Given the description of an element on the screen output the (x, y) to click on. 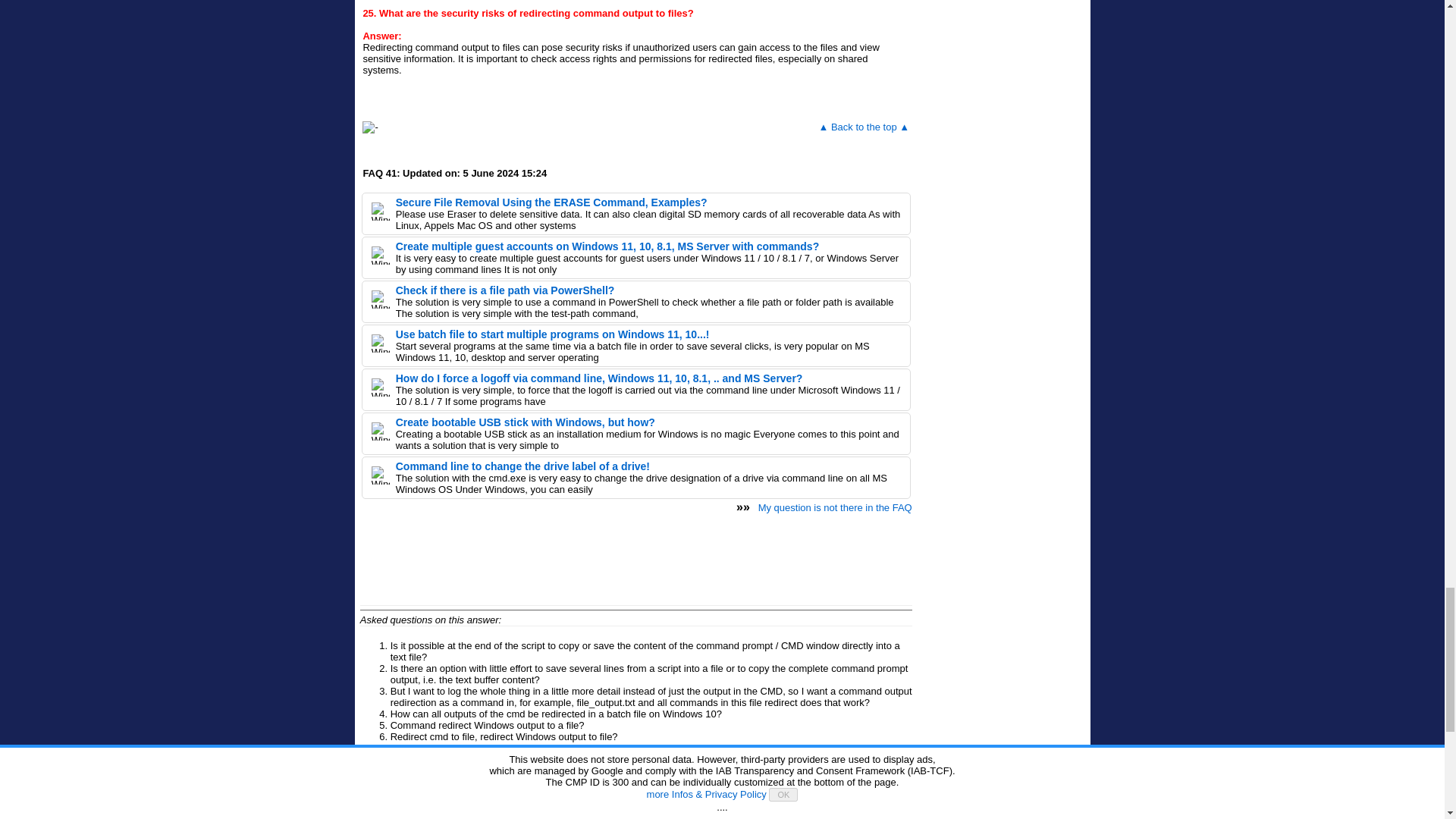
Secure File Removal Using the ERASE Command, Examples? (551, 202)
Check if there is a file path via PowerShell? (505, 290)
